Given the description of an element on the screen output the (x, y) to click on. 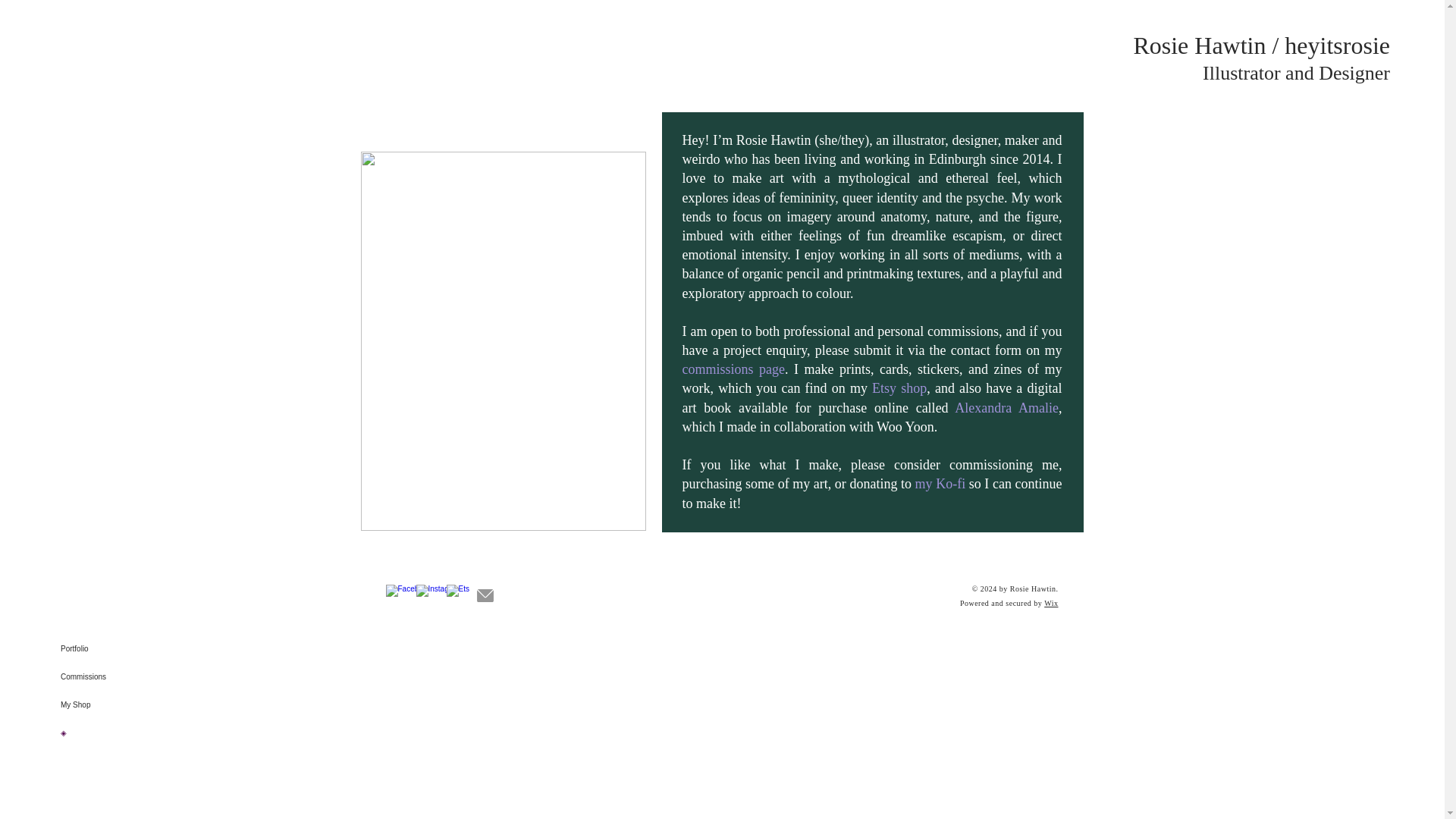
Alexandra Amalie (1006, 407)
Portfolio (123, 648)
Etsy shop (899, 387)
my Ko-fi (940, 483)
Commissions (123, 676)
My Shop (123, 705)
Wix (1050, 602)
commissions page (734, 368)
